Given the description of an element on the screen output the (x, y) to click on. 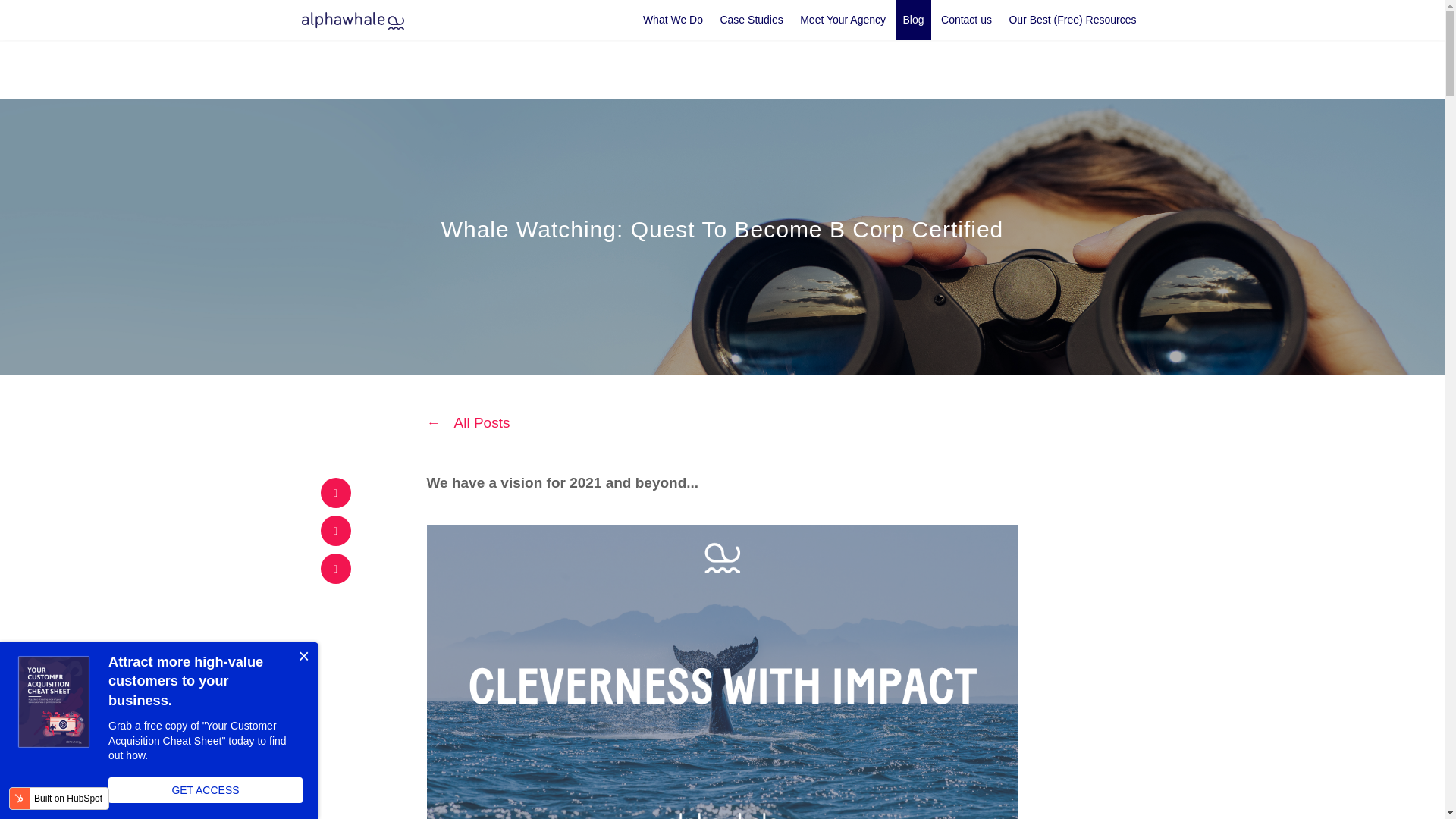
alpha (352, 20)
Contact us (966, 20)
Meet Your Agency (842, 20)
What We Do (673, 20)
Whale Watching: Quest To Become B Corp Certified (722, 229)
All Posts (467, 422)
Case Studies (751, 20)
